Given the description of an element on the screen output the (x, y) to click on. 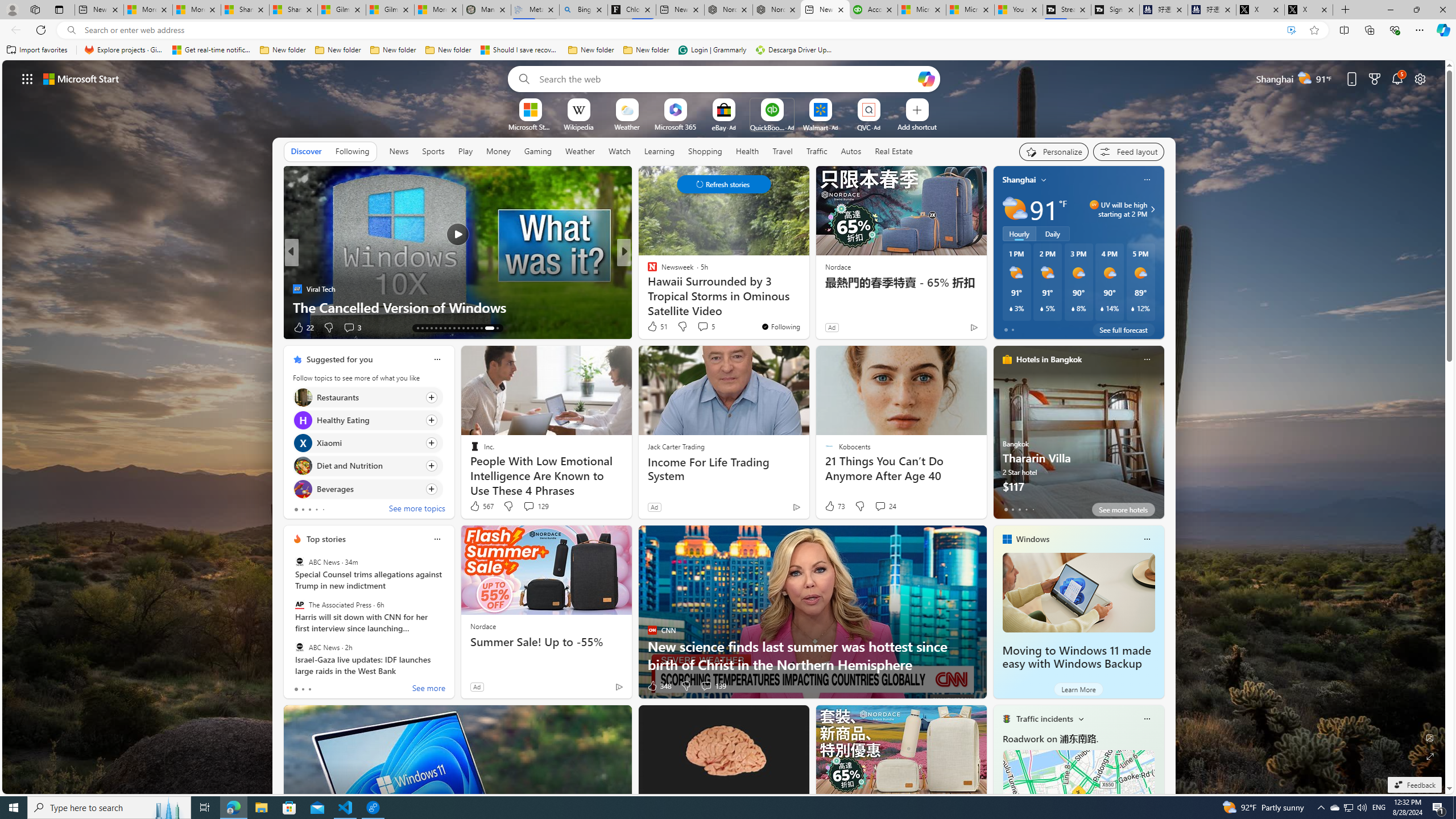
The Associated Press (299, 604)
Traffic incidents (1044, 718)
AutomationID: tab-20 (431, 328)
Search icon (70, 29)
Autos (850, 151)
View comments 24 Comment (885, 505)
tab-3 (1025, 509)
AutomationID: tab-27 (462, 328)
Partly sunny (1014, 208)
Health (746, 151)
